Given the description of an element on the screen output the (x, y) to click on. 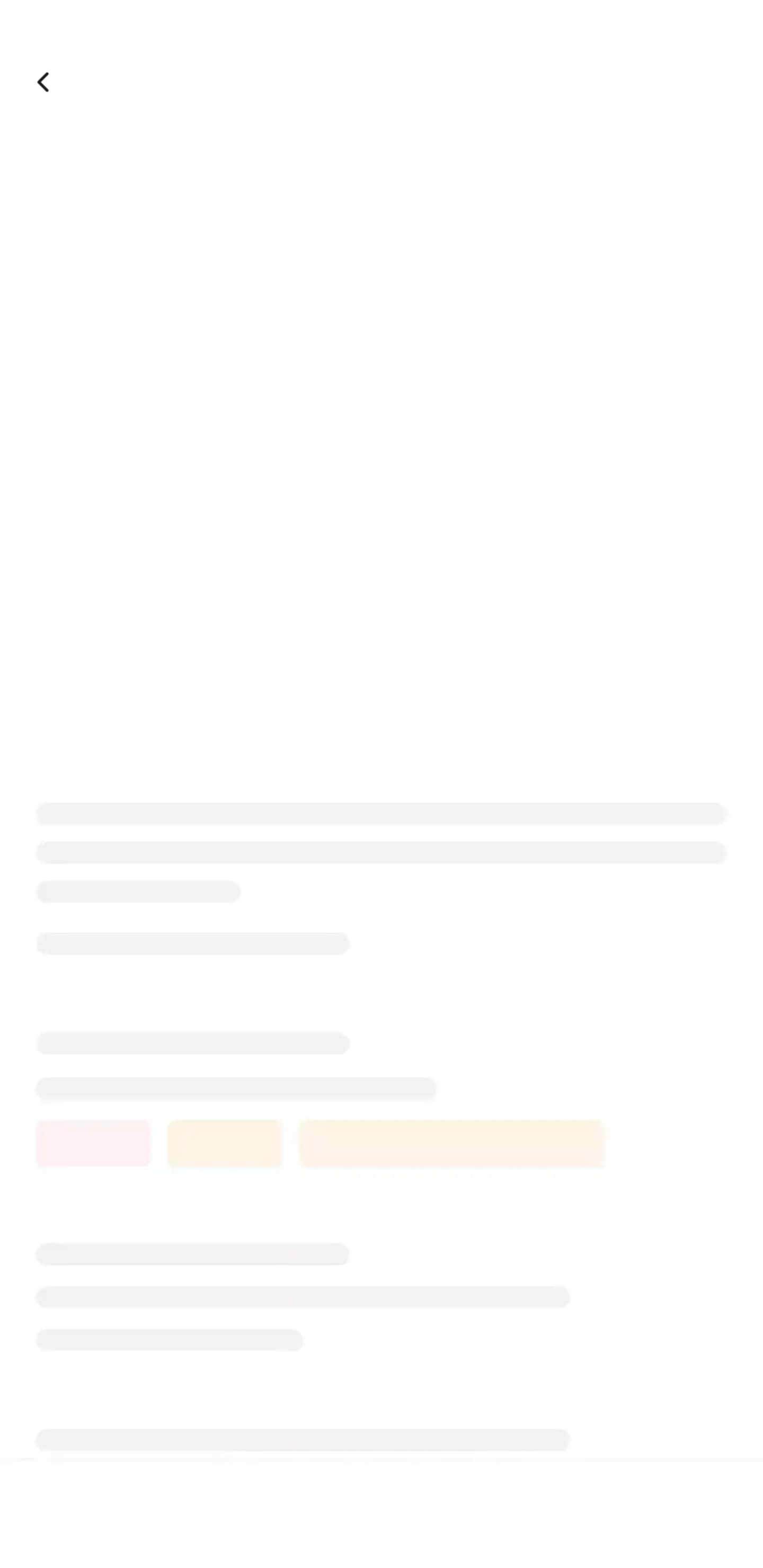
Navigate up (44, 82)
